Given the description of an element on the screen output the (x, y) to click on. 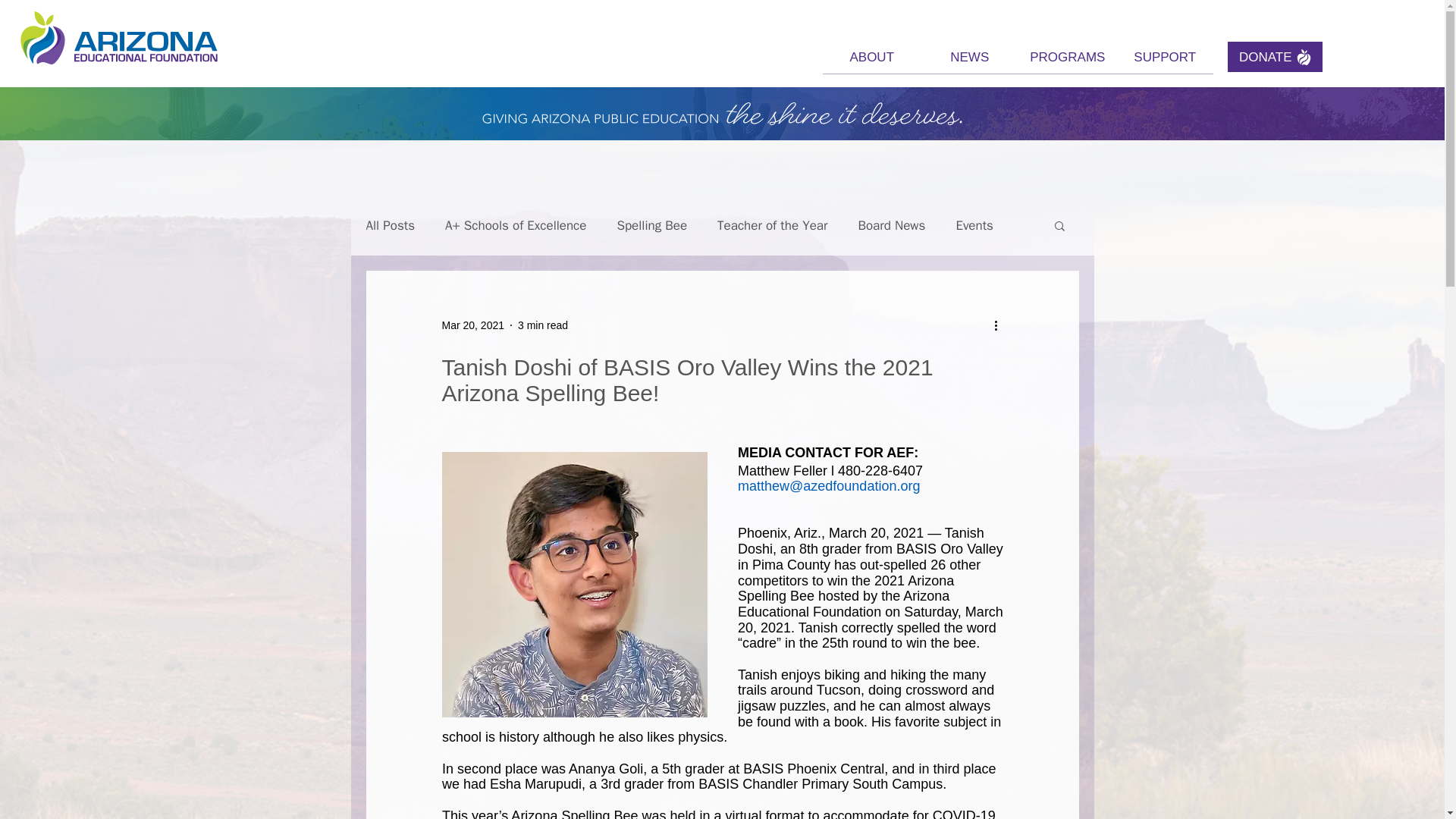
3 min read (542, 324)
NEWS (968, 62)
PROGRAMS (1066, 62)
DONATE (1274, 56)
SUPPORT (1164, 62)
Events (973, 225)
All Posts (389, 225)
Board News (890, 225)
ABOUT (871, 62)
Spelling Bee (651, 225)
